Given the description of an element on the screen output the (x, y) to click on. 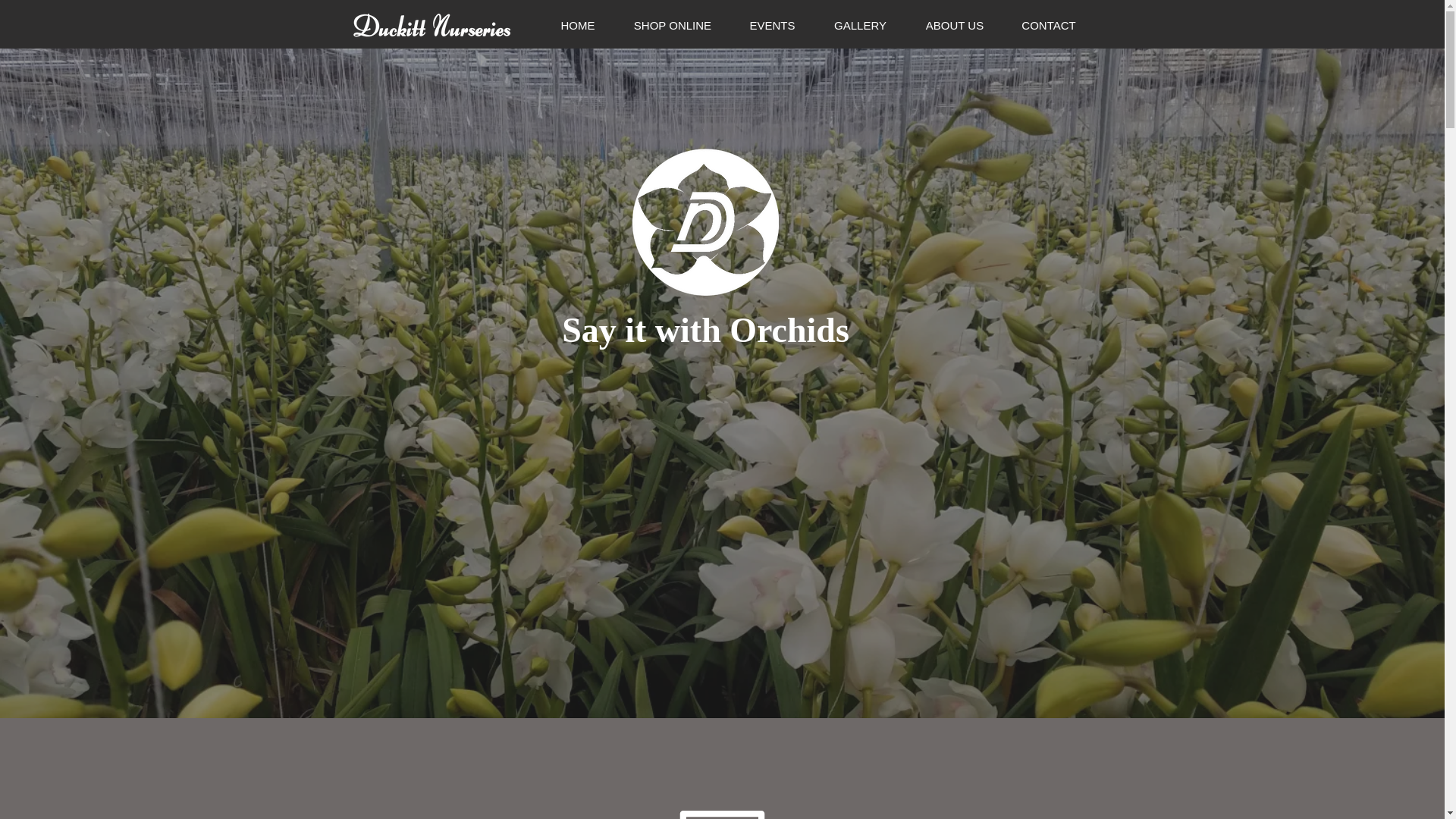
HOME (577, 25)
EVENTS (771, 25)
GALLERY (859, 25)
SHOP ONLINE (672, 25)
ABOUT US (954, 25)
CONTACT (1049, 25)
